Given the description of an element on the screen output the (x, y) to click on. 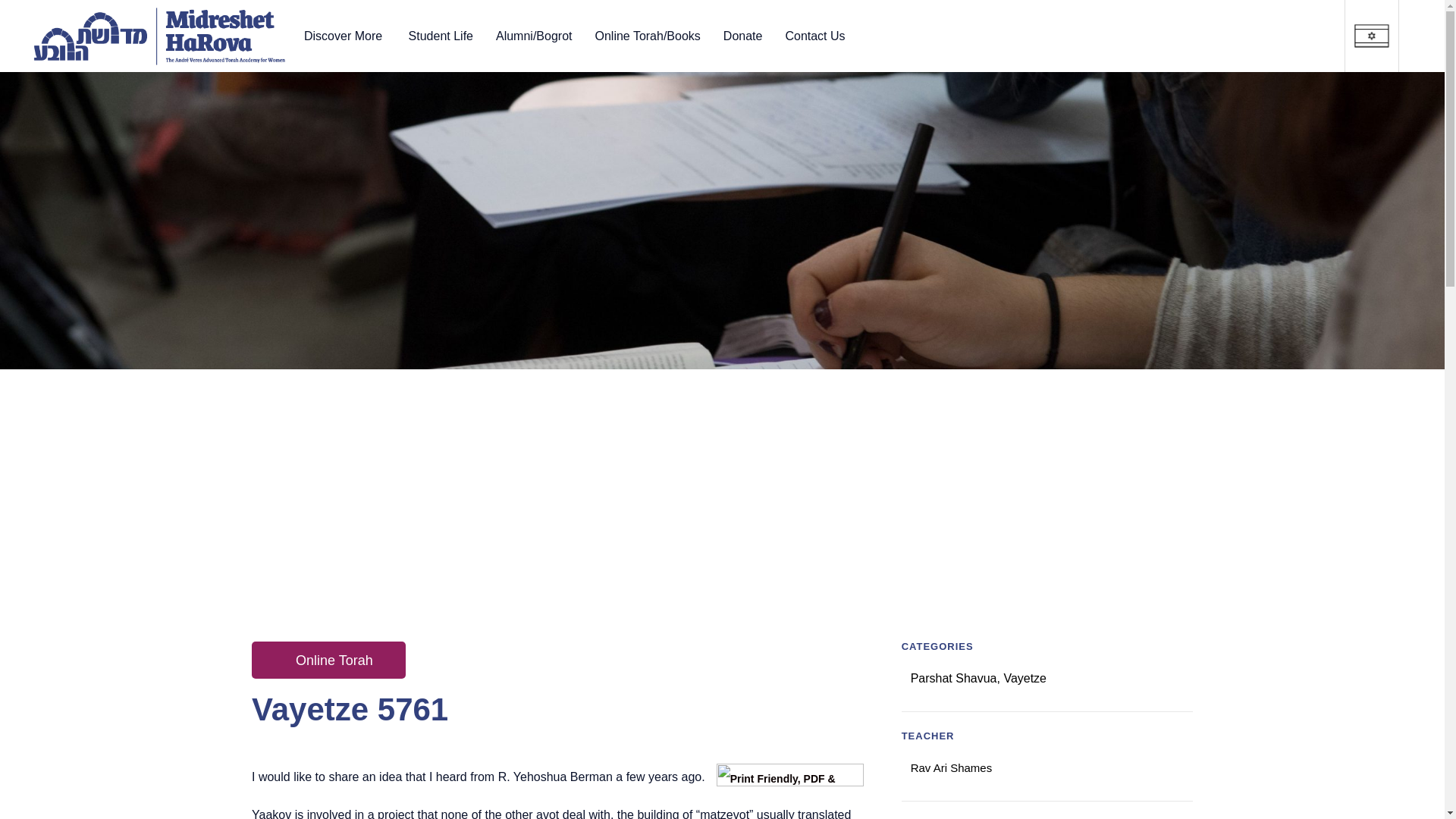
Donate (742, 35)
Discover More  (344, 35)
Contact Us (814, 35)
Student Life (441, 35)
